Given the description of an element on the screen output the (x, y) to click on. 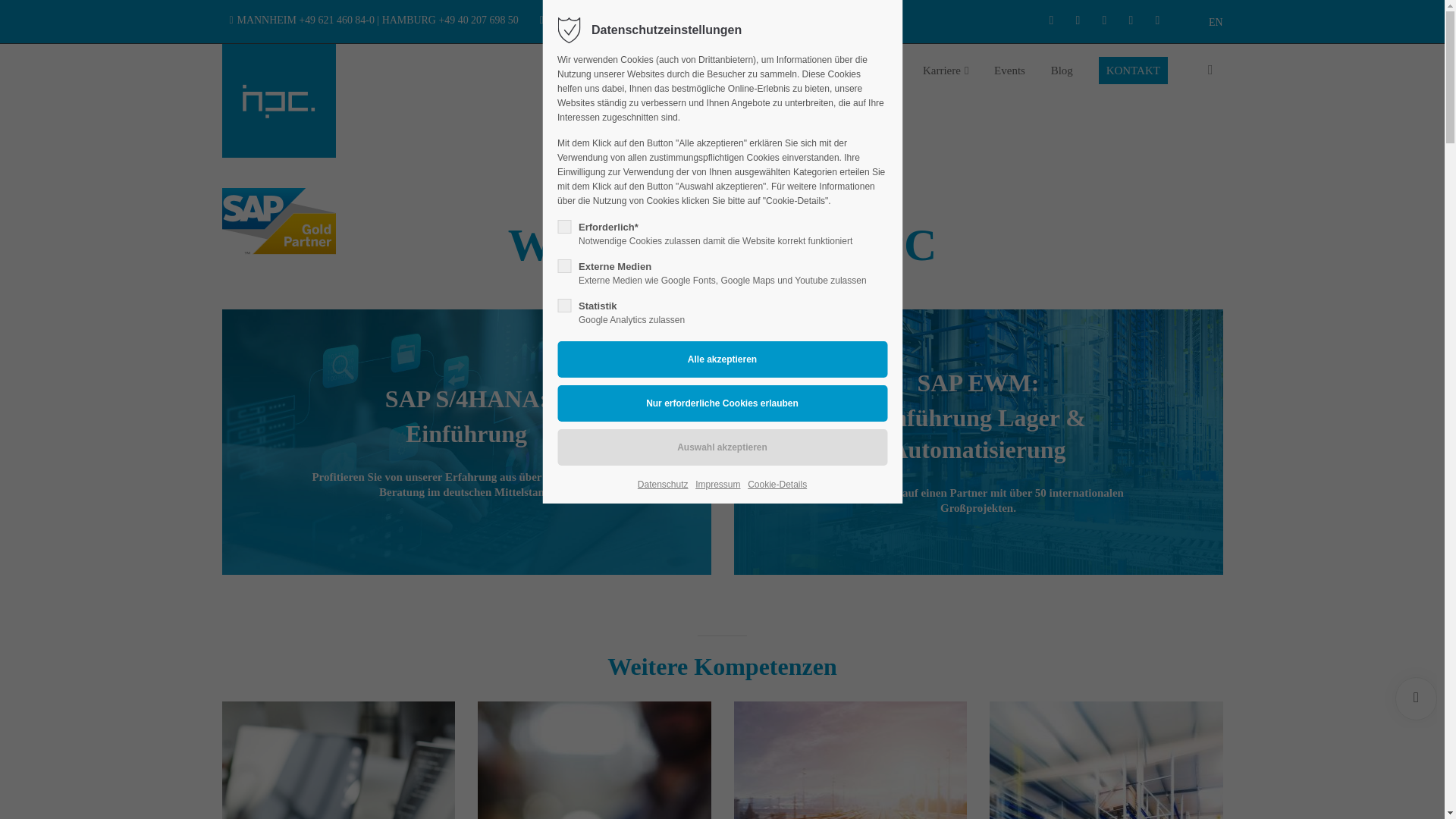
Nur erforderliche Cookies erlauben (721, 402)
EN (1215, 21)
Alle akzeptieren (721, 359)
Auswahl akzeptieren (721, 447)
Anmelden (790, 427)
Unsere SAP-Kompetenzen auf einen Blick (681, 70)
Kompetenzen (681, 70)
